Given the description of an element on the screen output the (x, y) to click on. 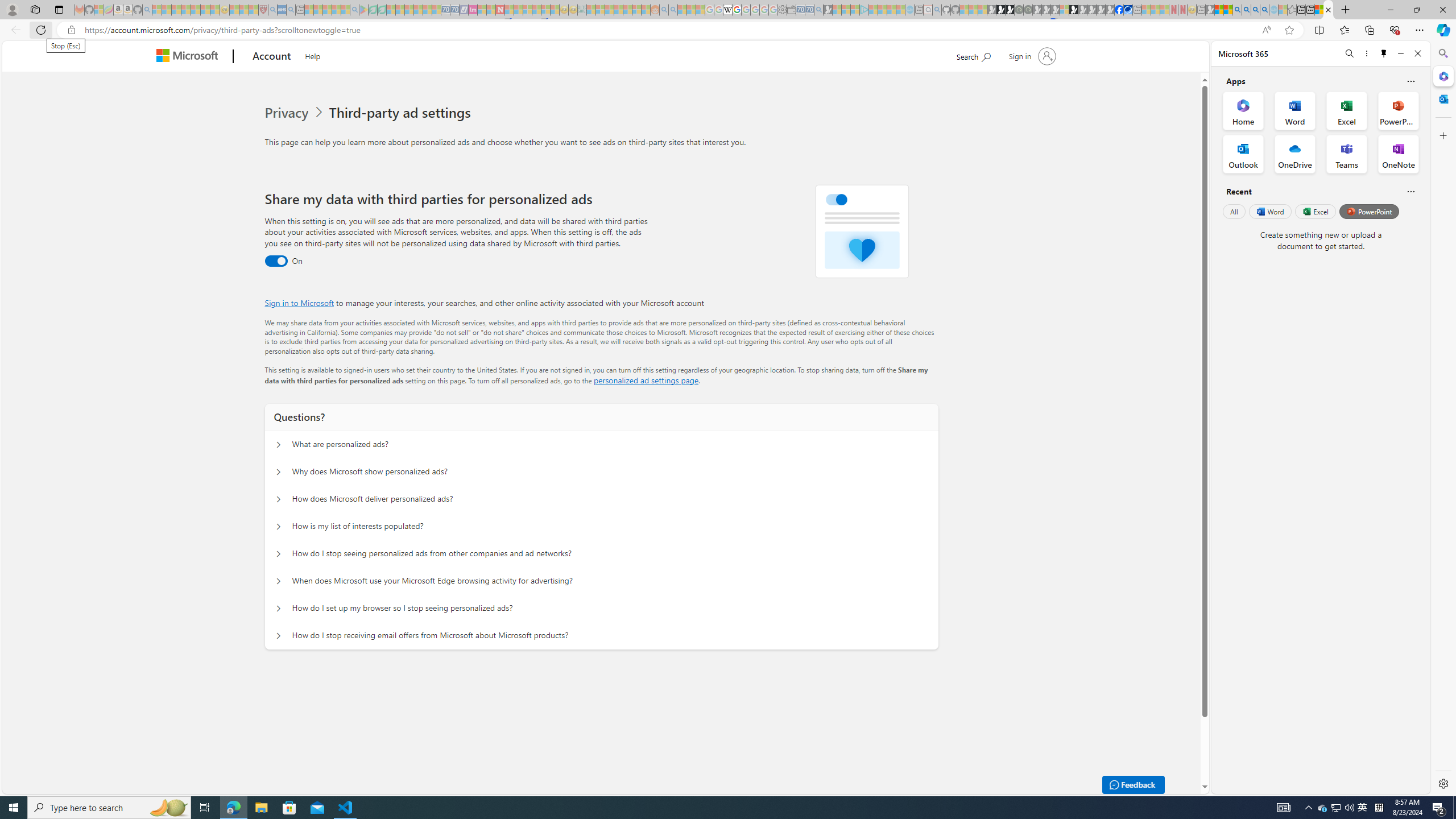
Trusted Community Engagement and Contributions | Guidelines (508, 9)
Help (312, 54)
Latest Politics News & Archive | Newsweek.com - Sleeping (499, 9)
Microsoft Start Gaming - Sleeping (827, 9)
OneNote Office App (1398, 154)
PowerPoint Office App (1398, 110)
